Given the description of an element on the screen output the (x, y) to click on. 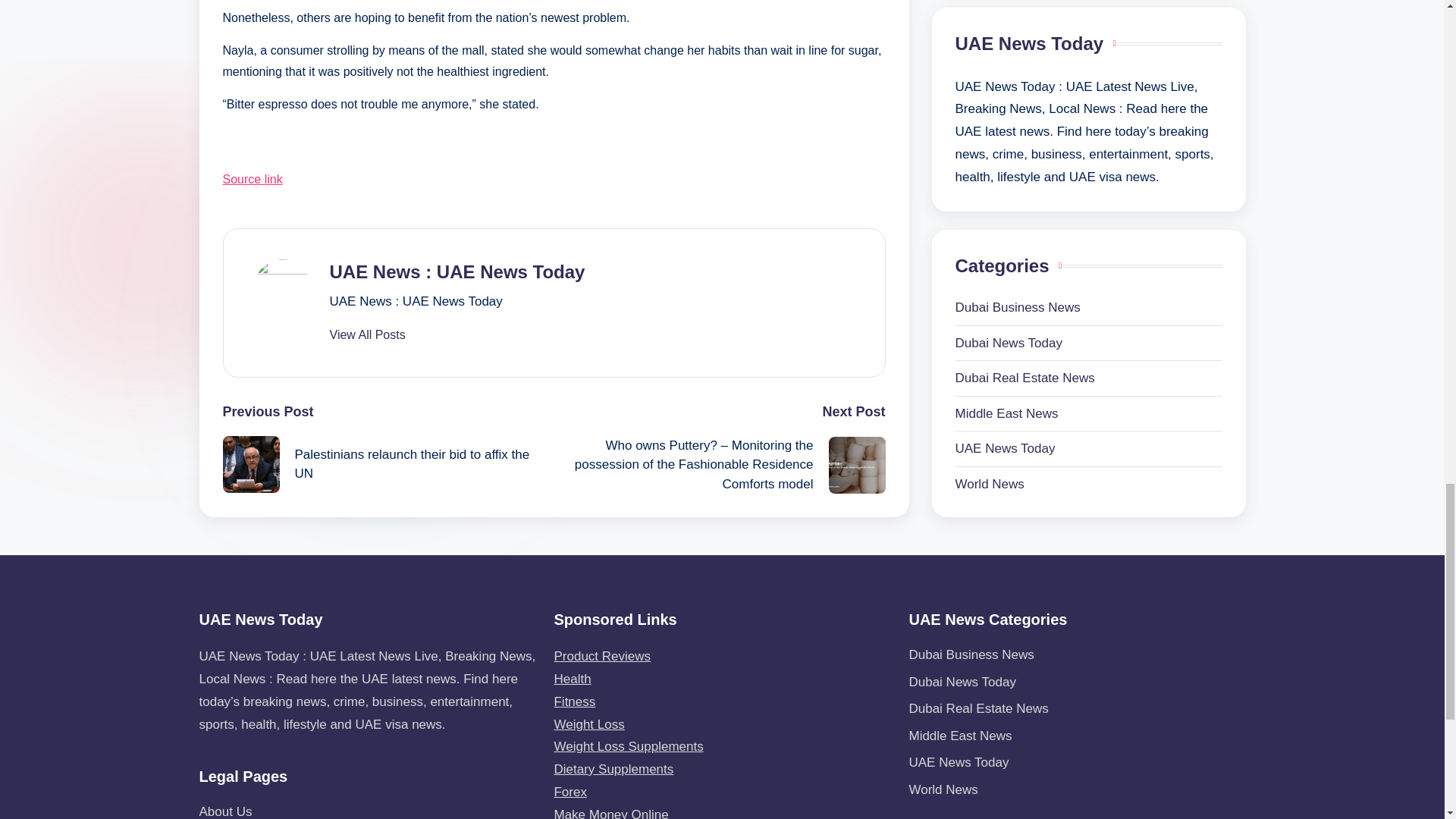
UAE News : UAE News Today (457, 271)
Source link (252, 178)
View All Posts (366, 335)
Palestinians relaunch their bid to affix the UN (388, 464)
